Given the description of an element on the screen output the (x, y) to click on. 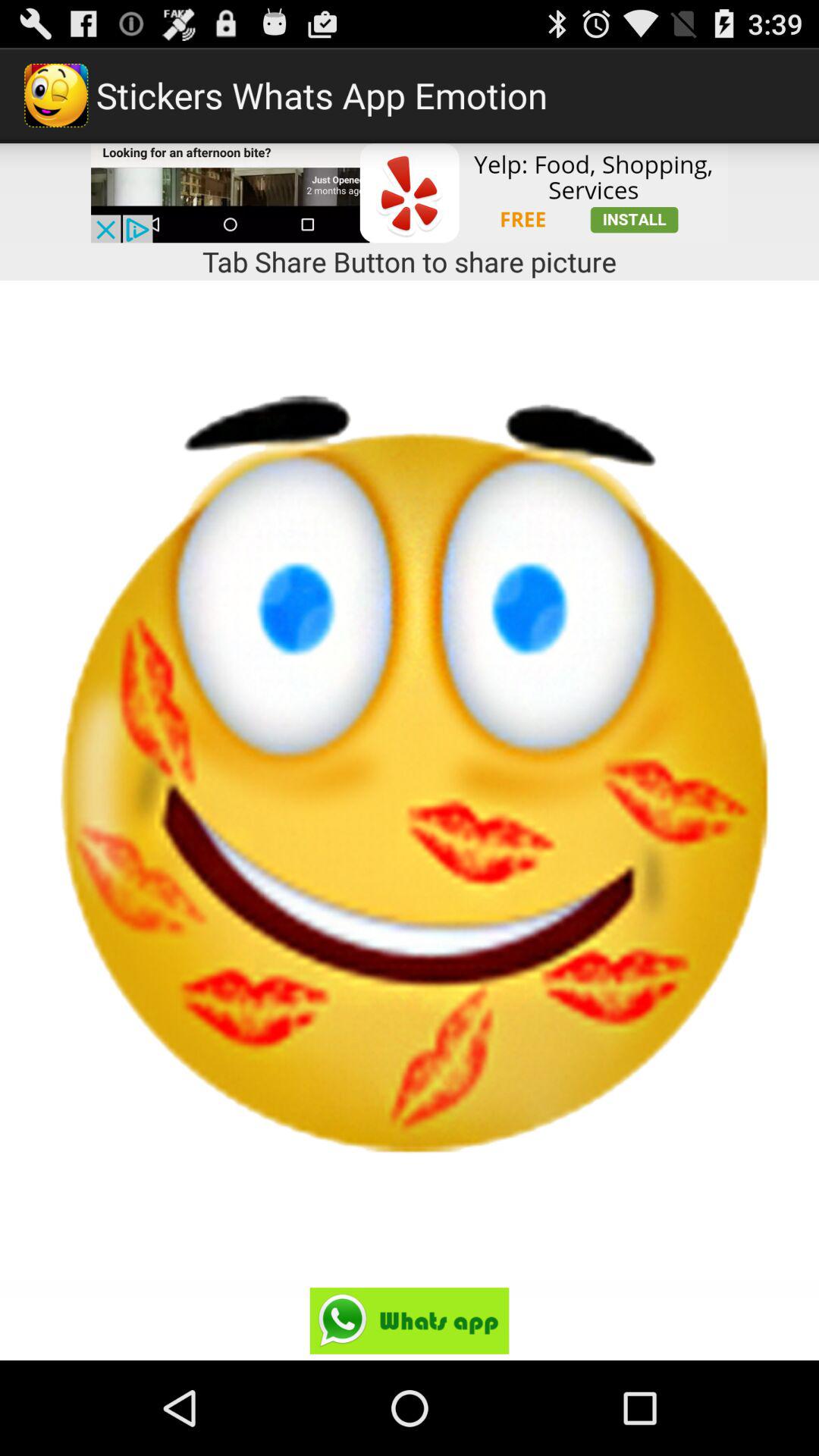
share on whatsapp (409, 1320)
